Given the description of an element on the screen output the (x, y) to click on. 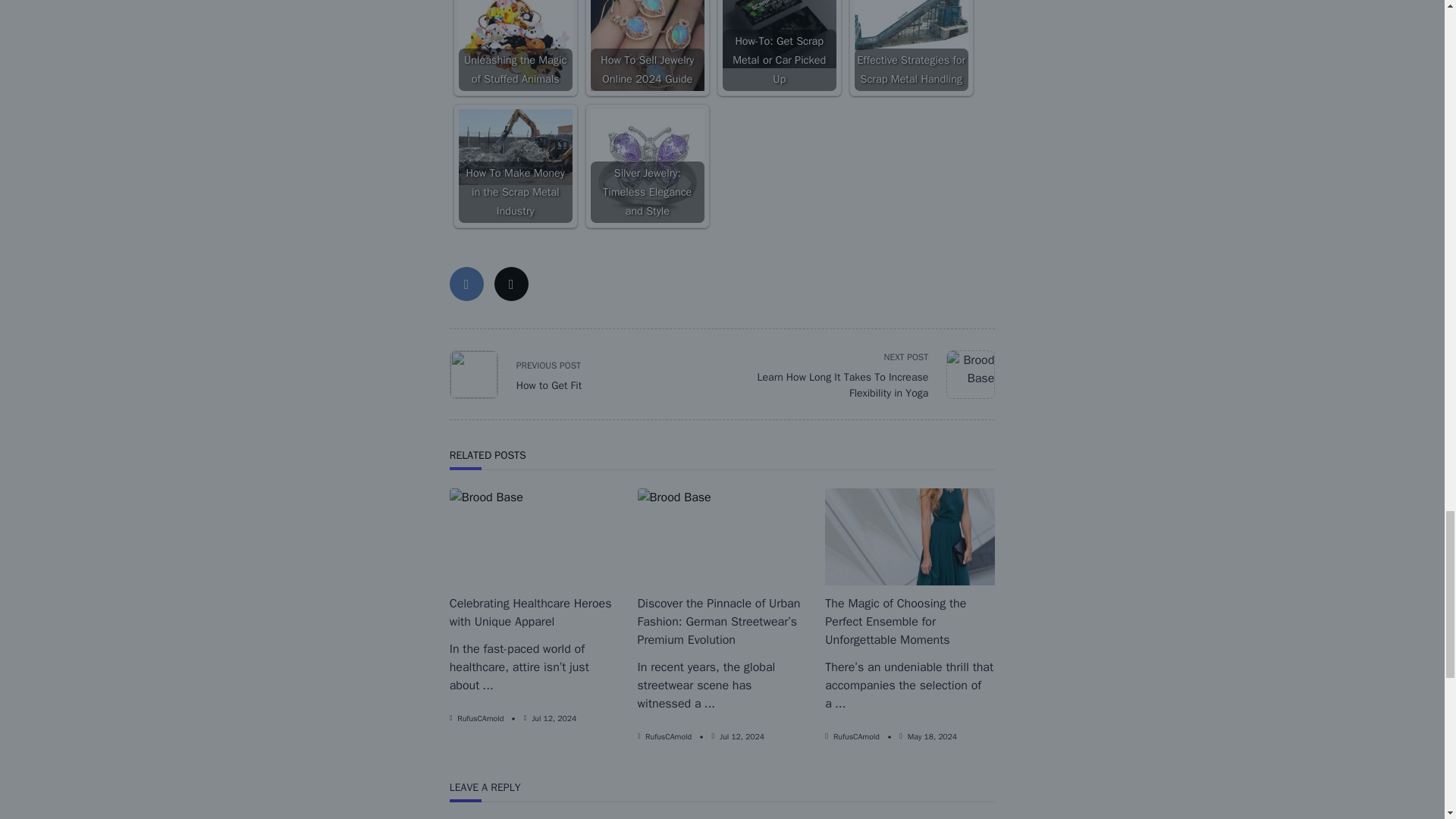
How-To: Get Scrap Metal or Car Picked Up (778, 33)
Unleashing the Magic of Stuffed Animals (515, 45)
How To Make Money in the Scrap Metal Industry (515, 146)
Effective Strategies for Scrap Metal Handling (911, 29)
Silver Jewelry: Timeless Elegance and Style (647, 165)
How To Sell Jewelry Online 2024 Guide (647, 45)
